Given the description of an element on the screen output the (x, y) to click on. 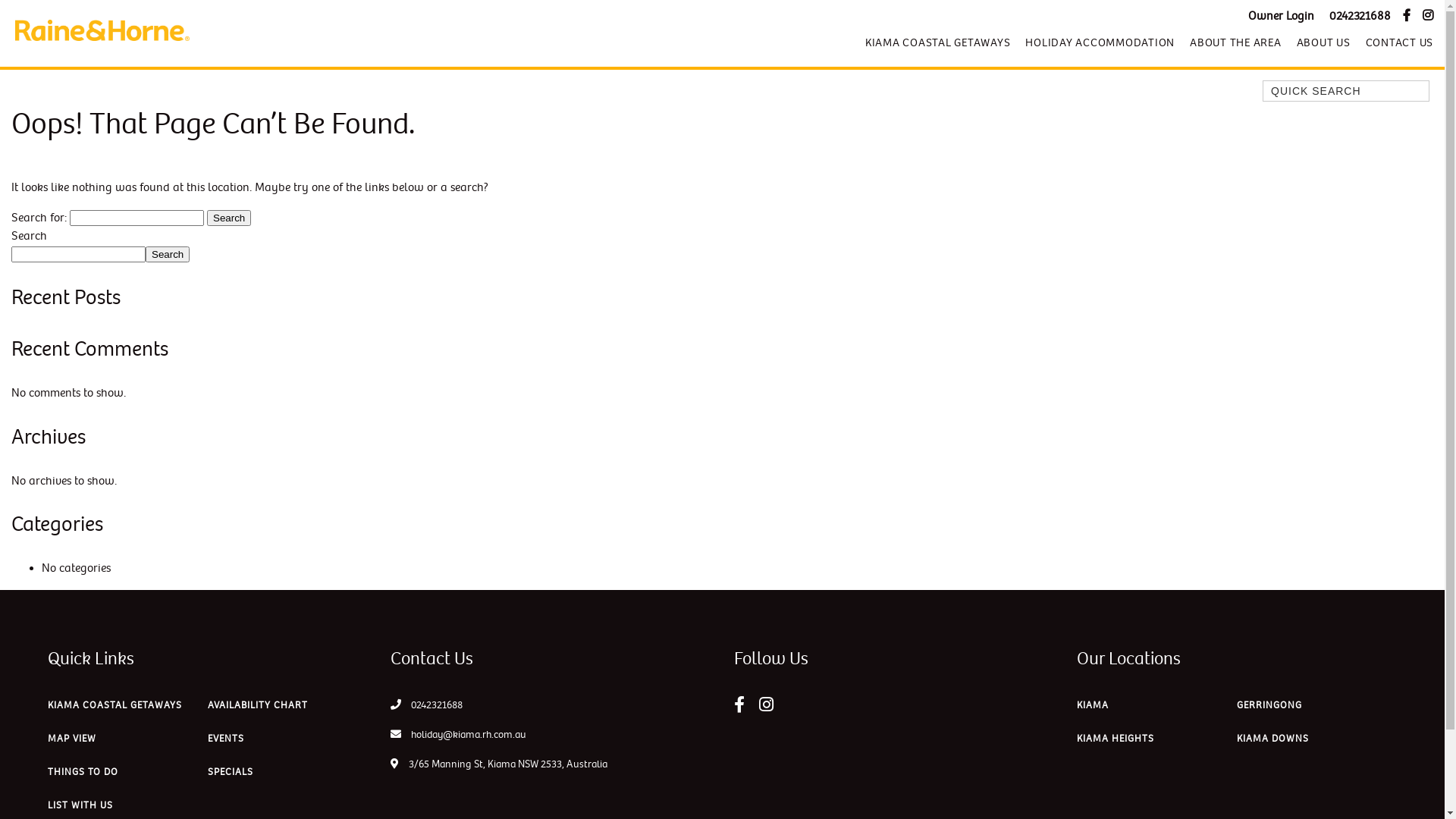
CONTACT US Element type: text (1395, 42)
KIAMA COASTAL GETAWAYS Element type: text (114, 708)
SPECIALS Element type: text (230, 775)
EVENTS Element type: text (225, 742)
0242321688 Element type: text (1359, 16)
Owner Login Element type: text (1281, 16)
AVAILABILITY CHART Element type: text (257, 708)
0242321688 Element type: text (436, 704)
KIAMA COASTAL GETAWAYS Element type: text (937, 42)
HOLIDAY ACCOMMODATION Element type: text (1099, 42)
ABOUT THE AREA Element type: text (1235, 42)
ABOUT US Element type: text (1323, 42)
KIAMA Element type: text (1092, 708)
MAP VIEW Element type: text (71, 742)
THINGS TO DO Element type: text (82, 775)
Search Element type: text (167, 254)
Search Element type: text (229, 217)
KIAMA DOWNS Element type: text (1272, 742)
GERRINGONG Element type: text (1269, 708)
3/65 Manning St, Kiama NSW 2533, Australia Element type: text (498, 763)
KIAMA HEIGHTS Element type: text (1115, 742)
holiday@kiama.rh.com.au Element type: text (458, 734)
